Given the description of an element on the screen output the (x, y) to click on. 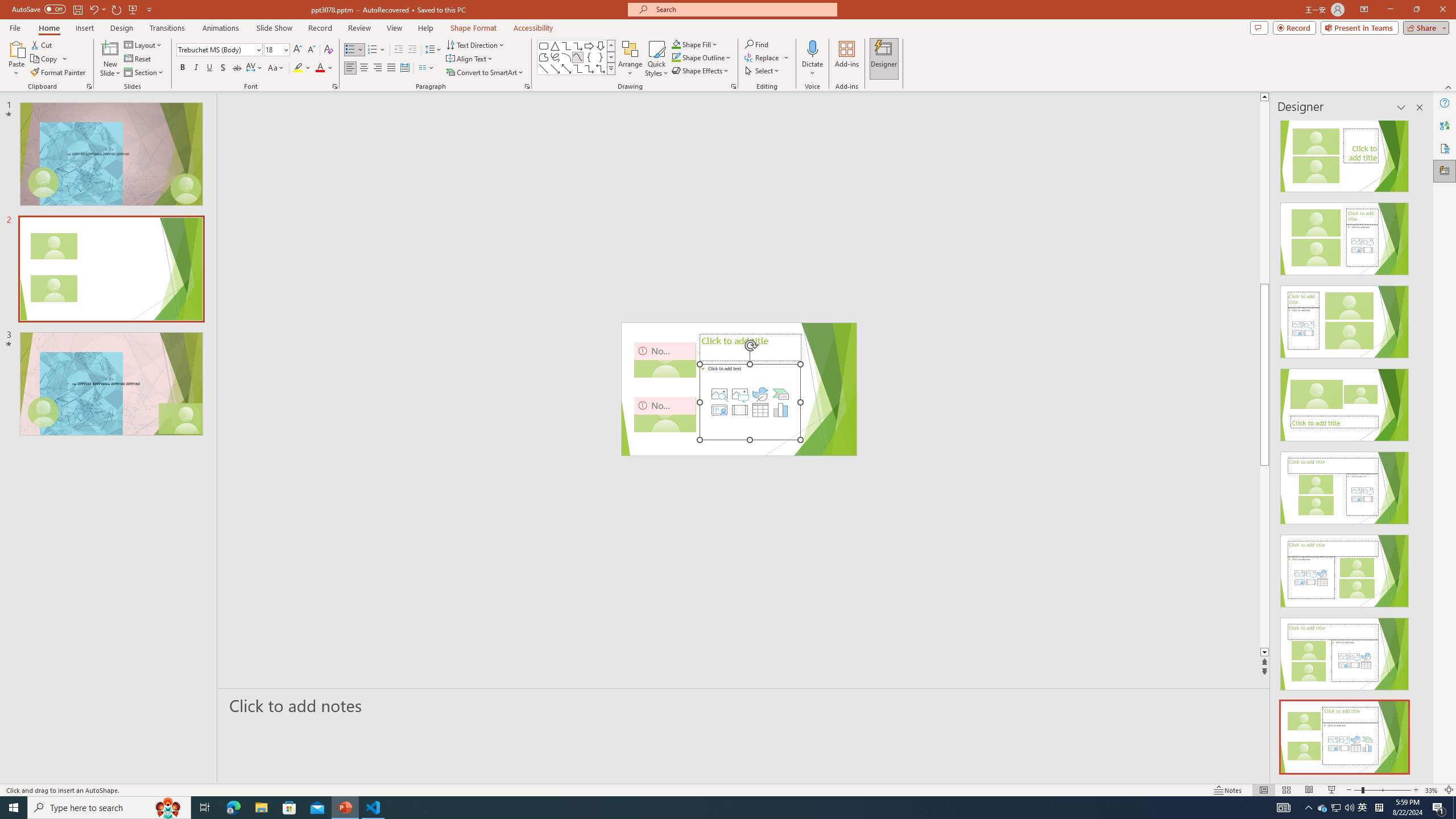
Shape Fill Dark Green, Accent 2 (675, 44)
Connector: Elbow Double-Arrow (600, 68)
